Given the description of an element on the screen output the (x, y) to click on. 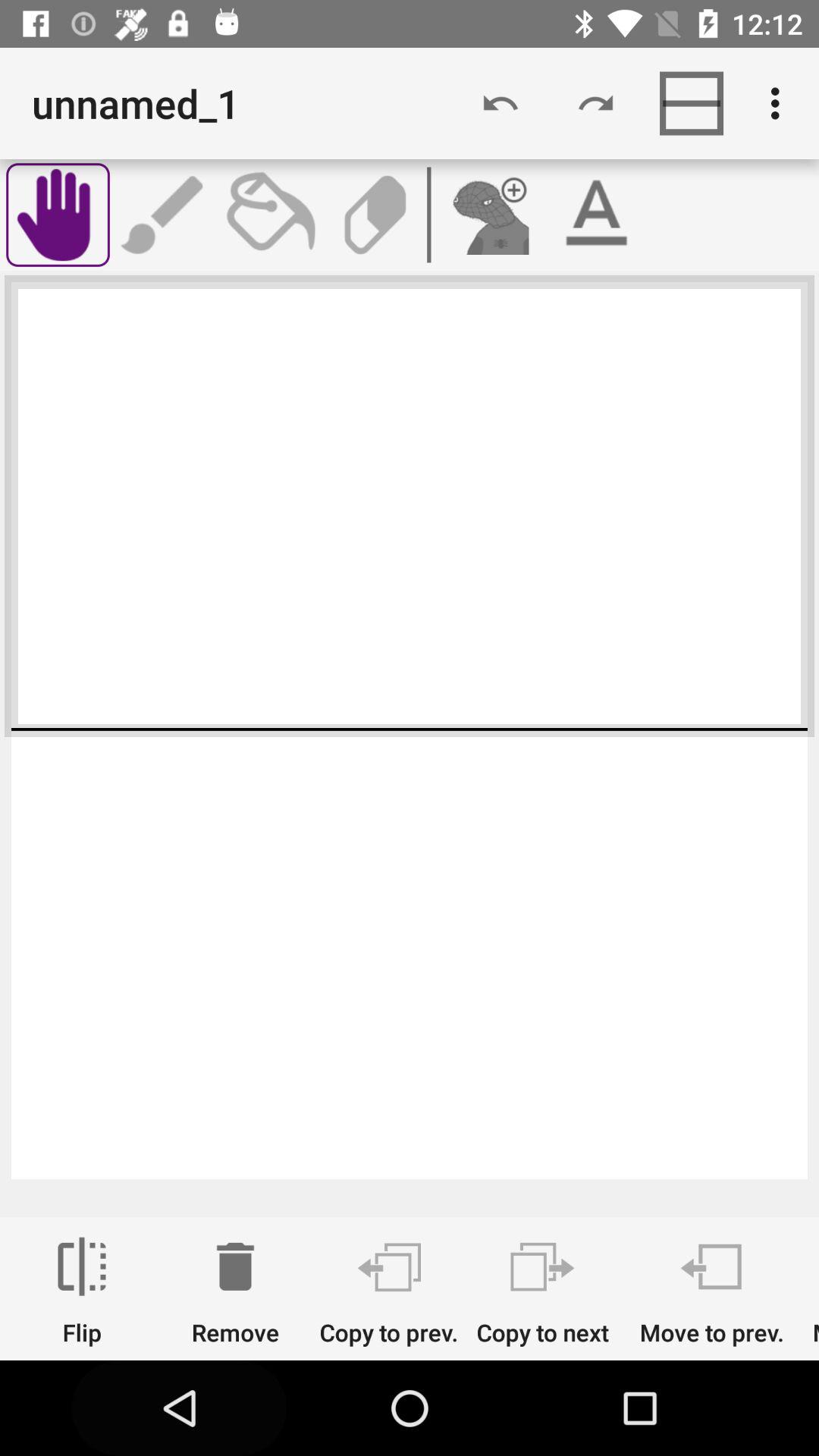
select item to the left of remove (81, 1291)
